Given the description of an element on the screen output the (x, y) to click on. 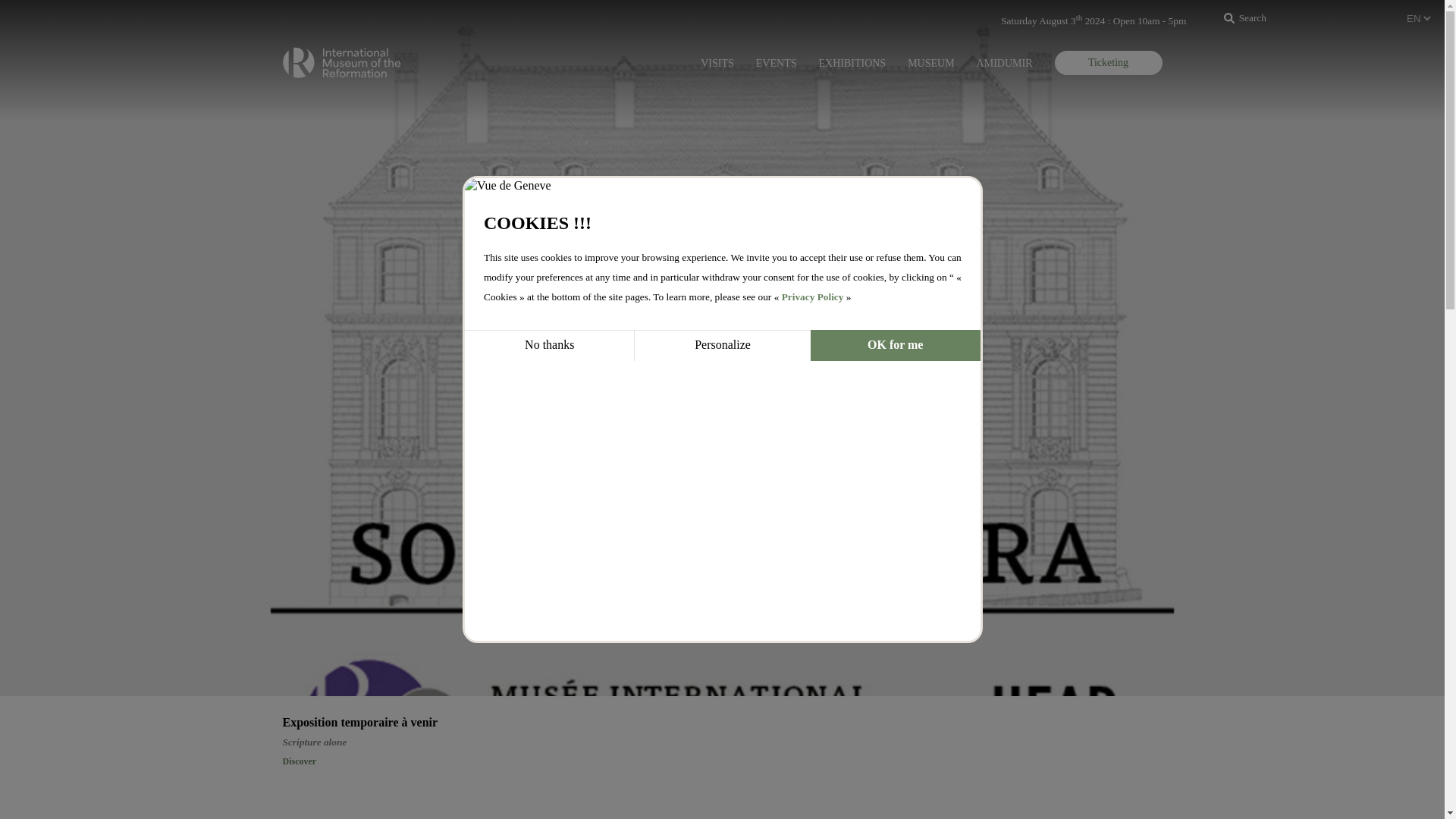
EXHIBITIONS (851, 62)
MUSEUM (930, 62)
Ticketing (1107, 62)
AMIDUMIR (1004, 62)
VISITS (716, 62)
Discover (298, 760)
EVENTS (775, 62)
